Given the description of an element on the screen output the (x, y) to click on. 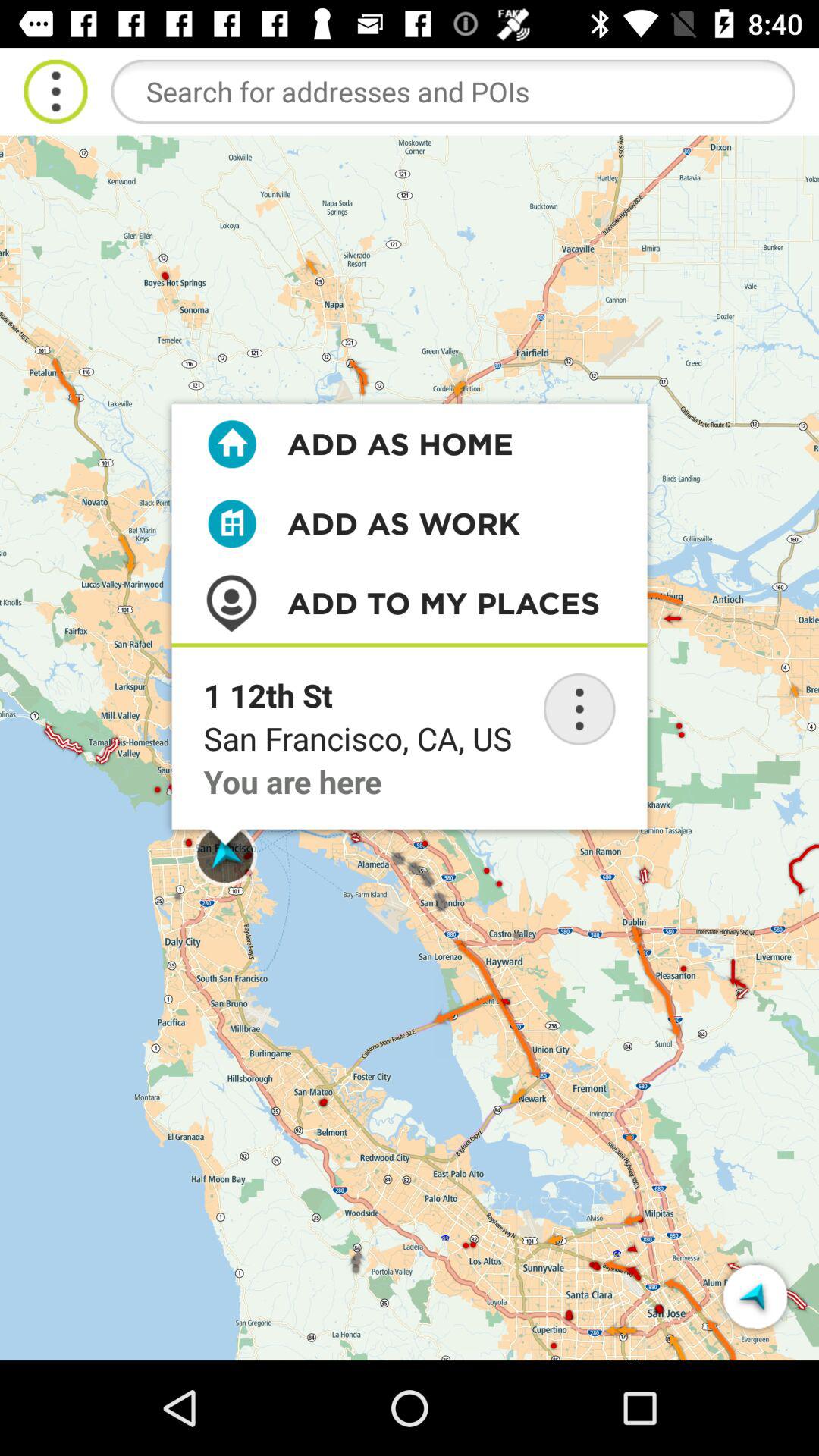
option button to expand and give you more options and informations about the address (579, 709)
